Given the description of an element on the screen output the (x, y) to click on. 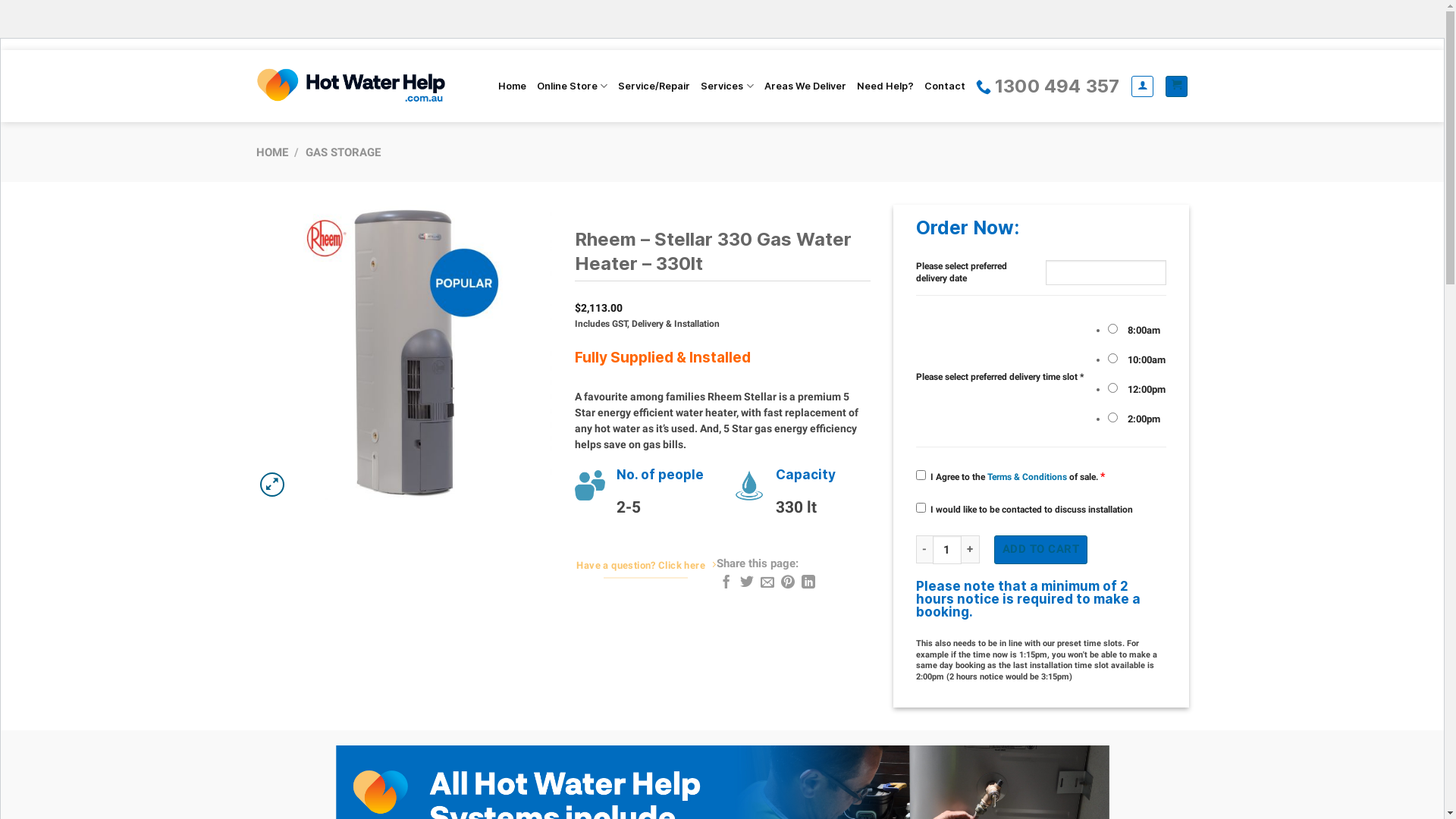
HOME Element type: text (272, 152)
Share on Twitter Element type: hover (746, 582)
GAS STORAGE Element type: text (342, 152)
Pin on Pinterest Element type: hover (787, 582)
Share on LinkedIn Element type: hover (808, 582)
Services Element type: text (726, 86)
Need Help? Element type: text (884, 86)
Qty Element type: hover (946, 549)
Skip to content Element type: text (0, 49)
Online Store Element type: text (571, 86)
Hot_Water_Help_System_Rheem Stellar Gas Ext 5 Star 330 Element type: hover (404, 352)
ADD TO CART Element type: text (1040, 549)
Cart Element type: hover (1176, 86)
Contact Element type: text (944, 86)
1300 494 357 Element type: text (1047, 86)
Have a question? Click here Element type: text (645, 567)
Home Element type: text (512, 86)
Service/Repair Element type: text (654, 86)
Terms & Conditions Element type: text (1026, 476)
Email to a Friend Element type: hover (767, 582)
Zoom Element type: hover (271, 484)
Share on Facebook Element type: hover (726, 582)
Areas We Deliver Element type: text (805, 86)
